Given the description of an element on the screen output the (x, y) to click on. 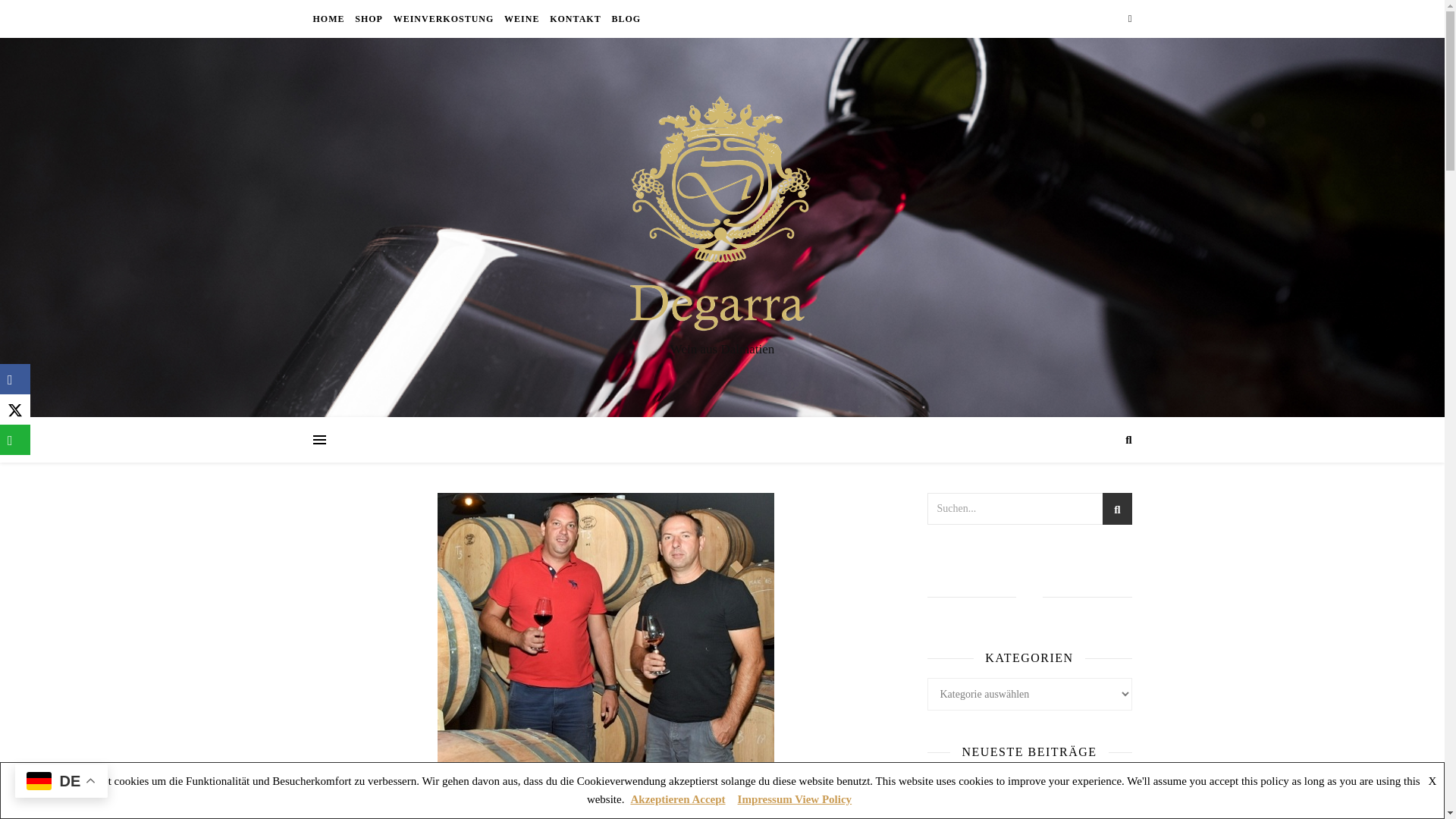
HOME (330, 18)
WEINVERKOSTUNG (443, 18)
KONTAKT (575, 18)
WEINE (521, 18)
DEGARRA (721, 213)
SHOP (368, 18)
